Given the description of an element on the screen output the (x, y) to click on. 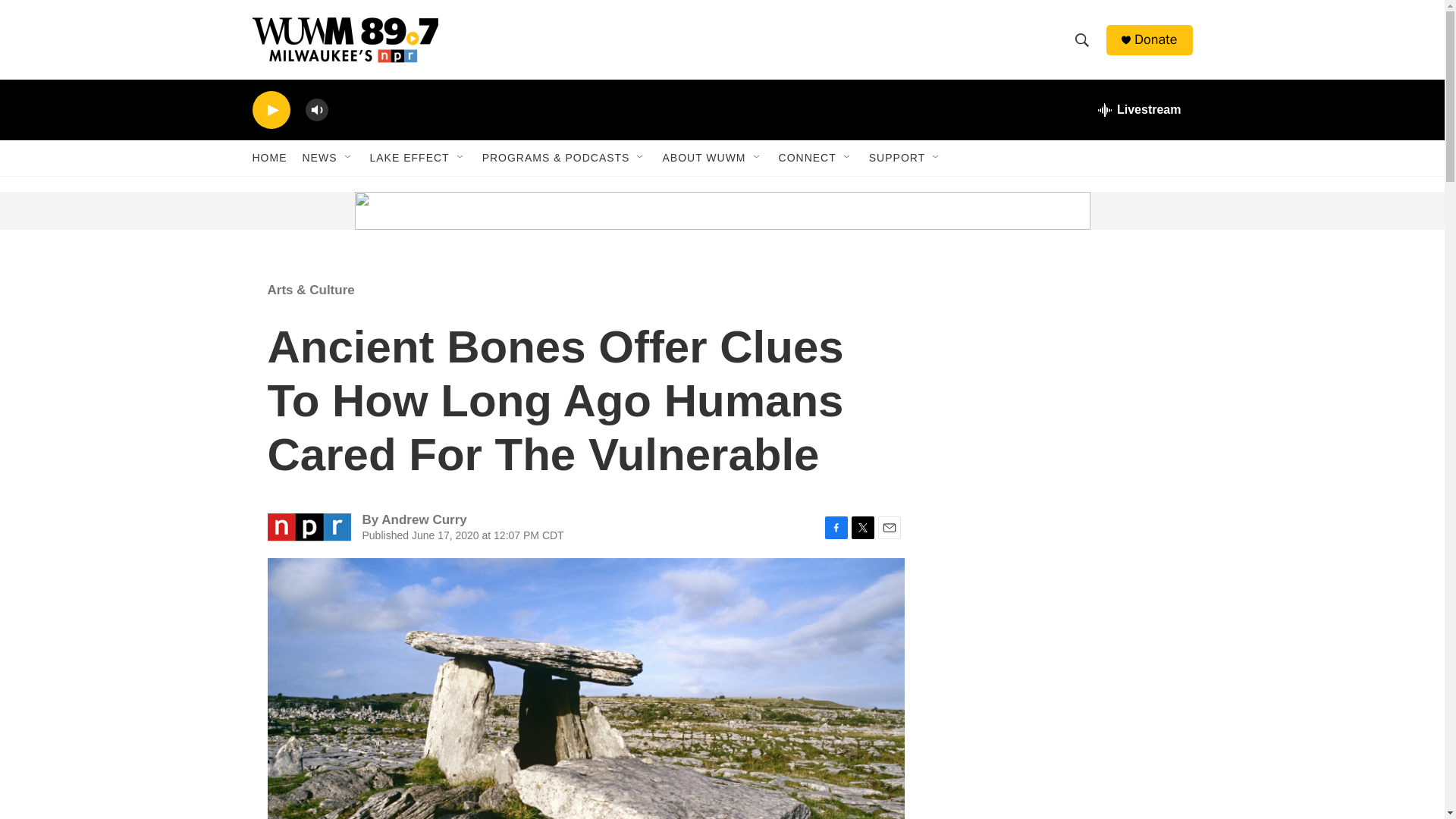
3rd party ad content (1062, 785)
3rd party ad content (367, 210)
3rd party ad content (1062, 608)
3rd party ad content (1062, 370)
